Given the description of an element on the screen output the (x, y) to click on. 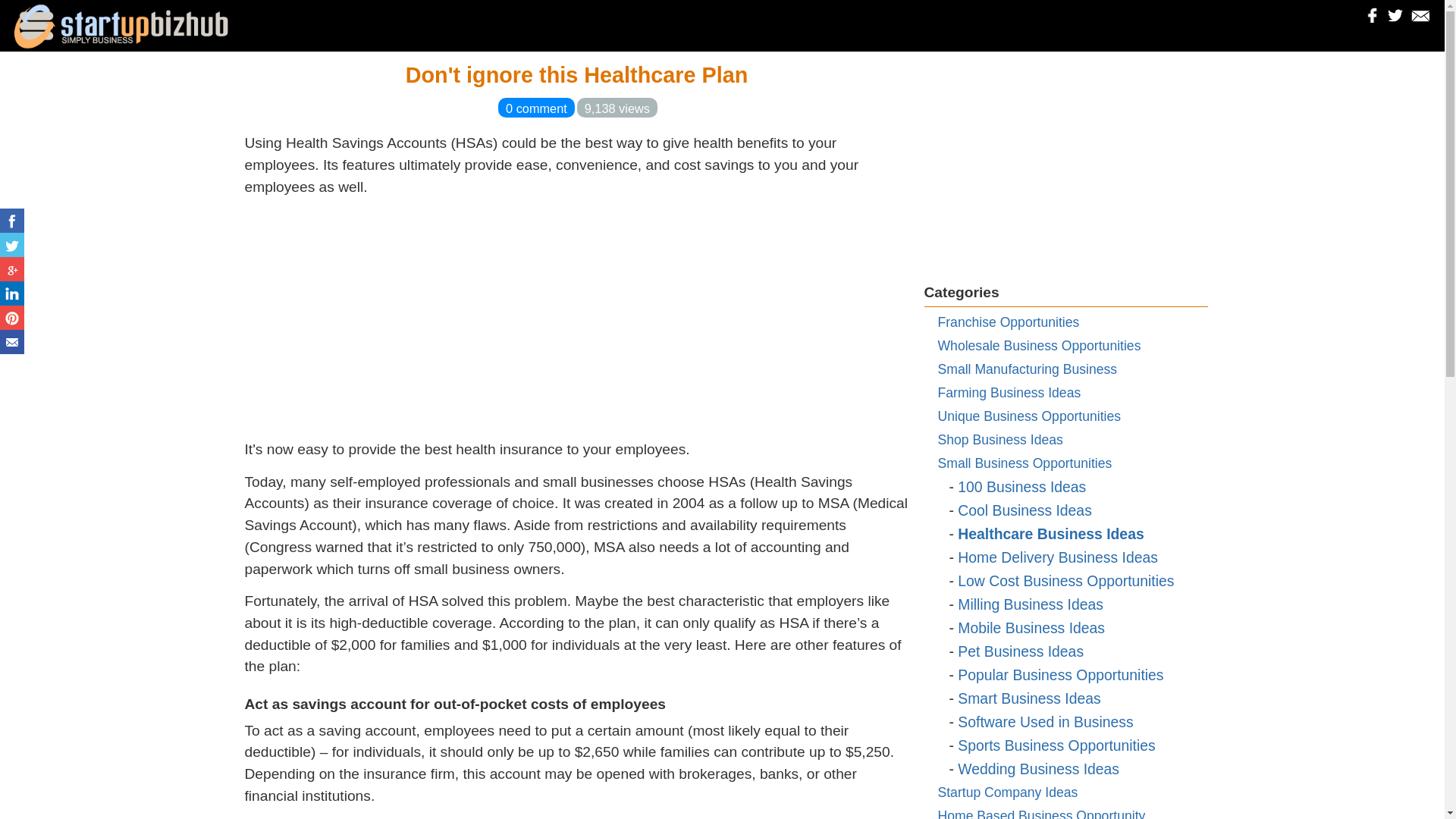
Franchise Opportunities (1007, 322)
Home Based Business Opportunity (1040, 813)
Software Used in Business (1045, 721)
Advertisement (575, 322)
Pet Business Ideas (1020, 651)
Startup Company Ideas (1007, 792)
Wholesale Business Opportunities (1038, 345)
Mobile Business Ideas (1031, 627)
Shop Business Ideas (999, 439)
Small Business Opportunities (1024, 462)
Low Cost Business Opportunities (1065, 580)
Milling Business Ideas (1030, 604)
Healthcare Business Ideas (1050, 533)
Unique Business Opportunities (1029, 416)
100 Business Ideas (1022, 486)
